Given the description of an element on the screen output the (x, y) to click on. 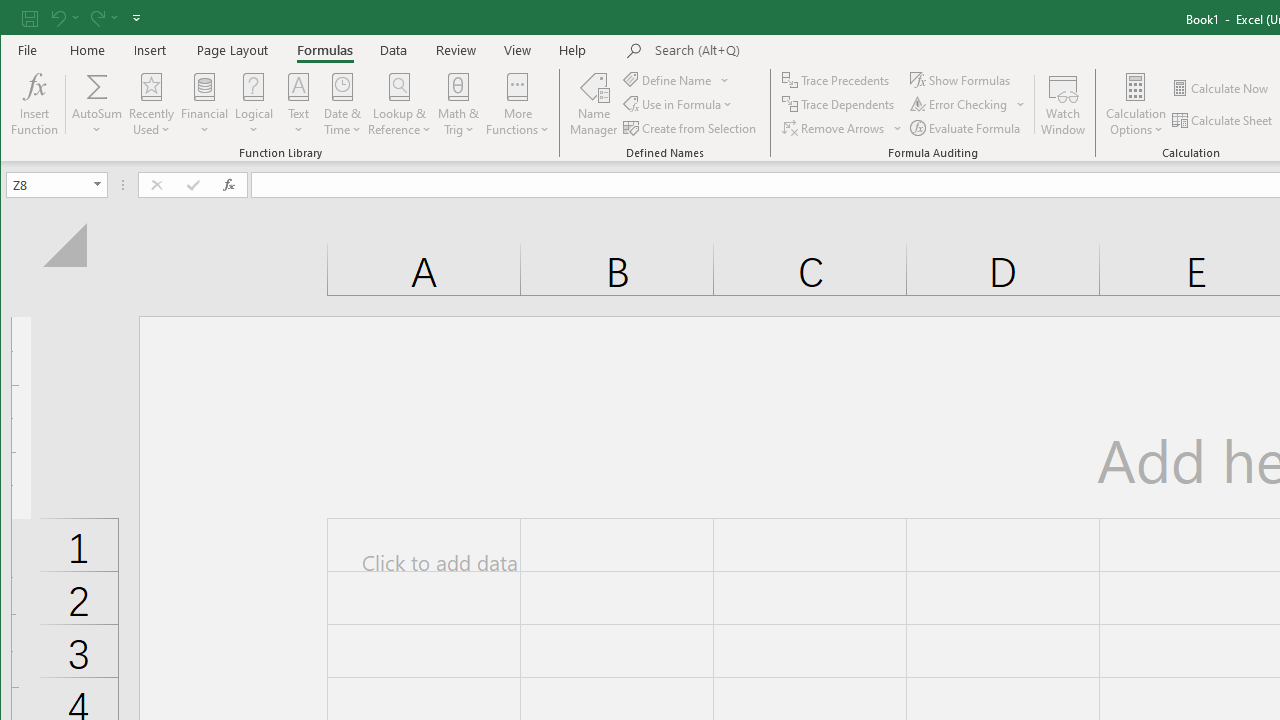
Calculate Sheet (1223, 119)
Error Checking... (960, 103)
Text (298, 104)
Define Name (676, 80)
Sum (97, 86)
Calculation Options (1135, 104)
Logical (254, 104)
Remove Arrows (834, 127)
